Given the description of an element on the screen output the (x, y) to click on. 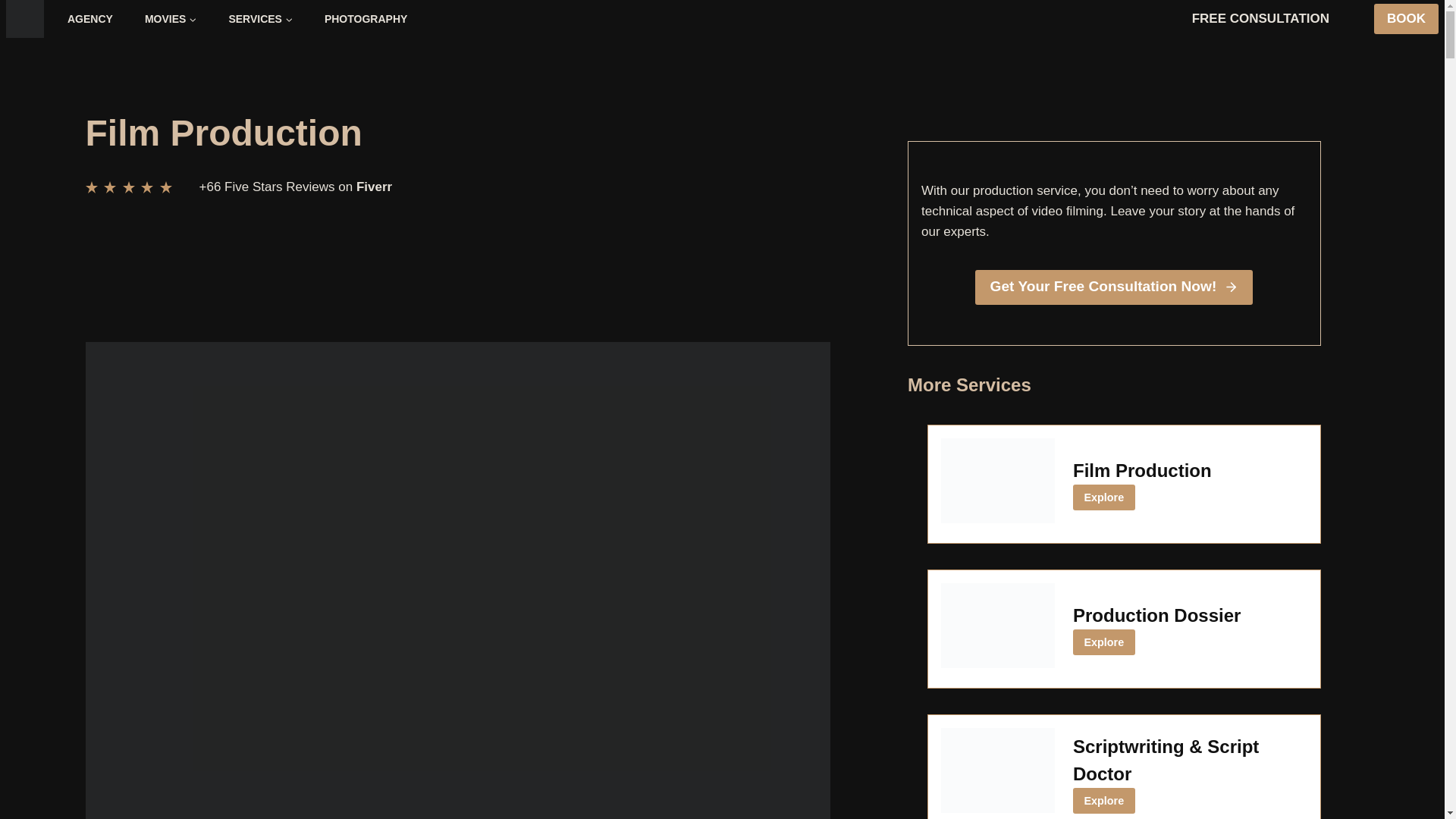
Explore (1104, 642)
AGENCY (89, 18)
PHOTOGRAPHY (365, 18)
Explore (1104, 800)
FREE CONSULTATION (1260, 19)
Explore (1104, 497)
Get Your Free Consultation Now! (1113, 287)
SERVICES (260, 18)
MOVIES (170, 18)
BOOK (1406, 19)
